Given the description of an element on the screen output the (x, y) to click on. 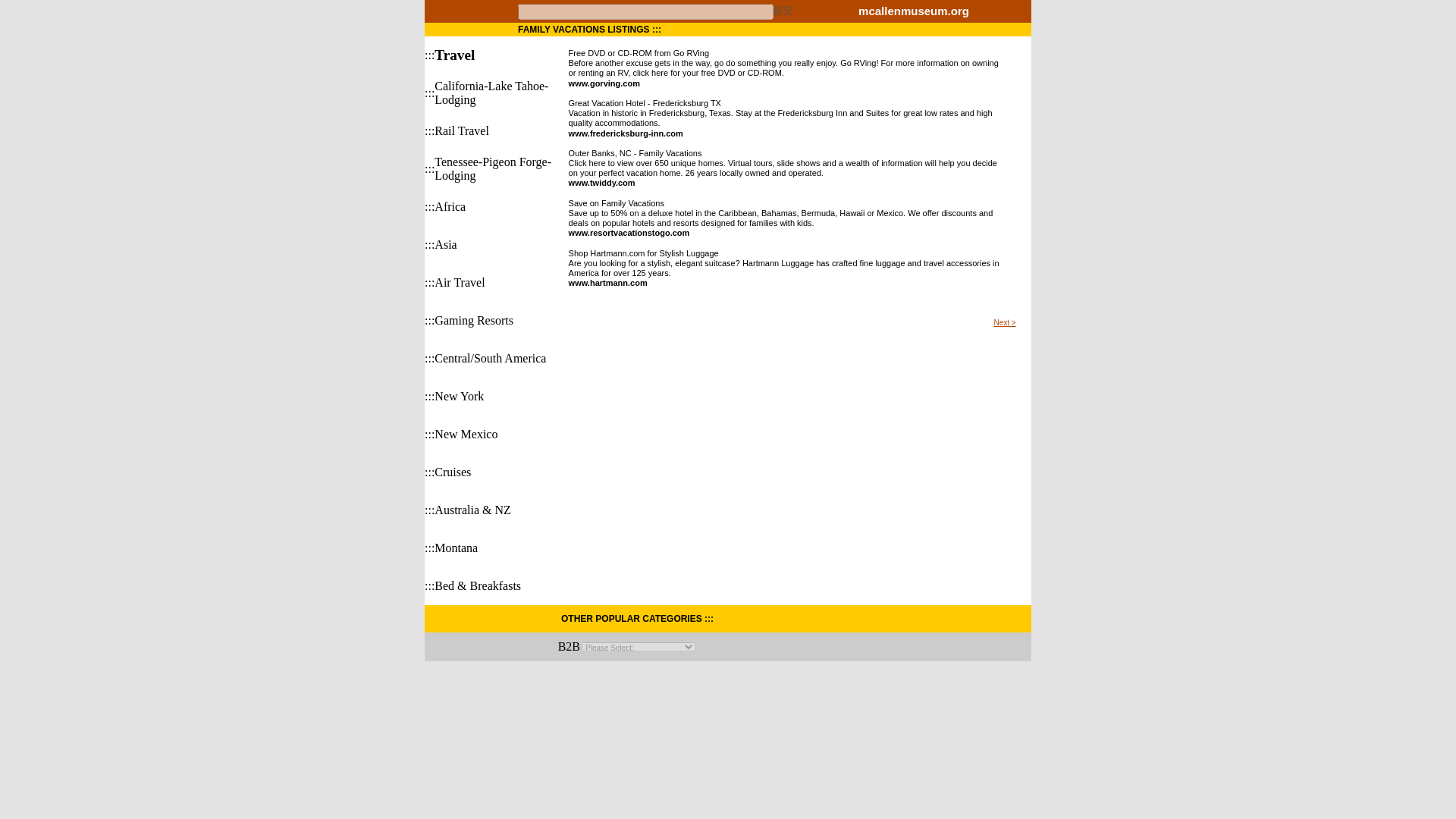
B2B (568, 645)
mcallenmuseum.org (914, 12)
